Given the description of an element on the screen output the (x, y) to click on. 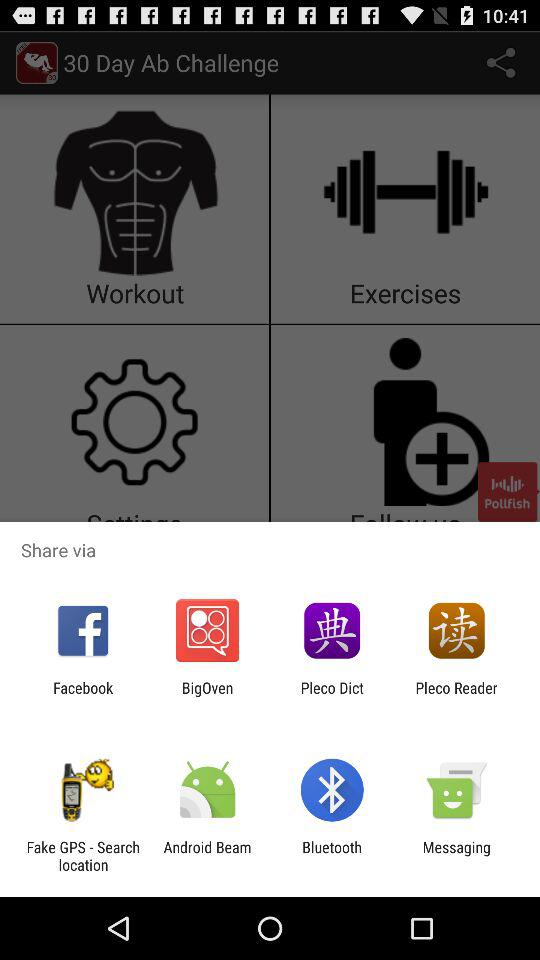
flip to the bigoven item (207, 696)
